Given the description of an element on the screen output the (x, y) to click on. 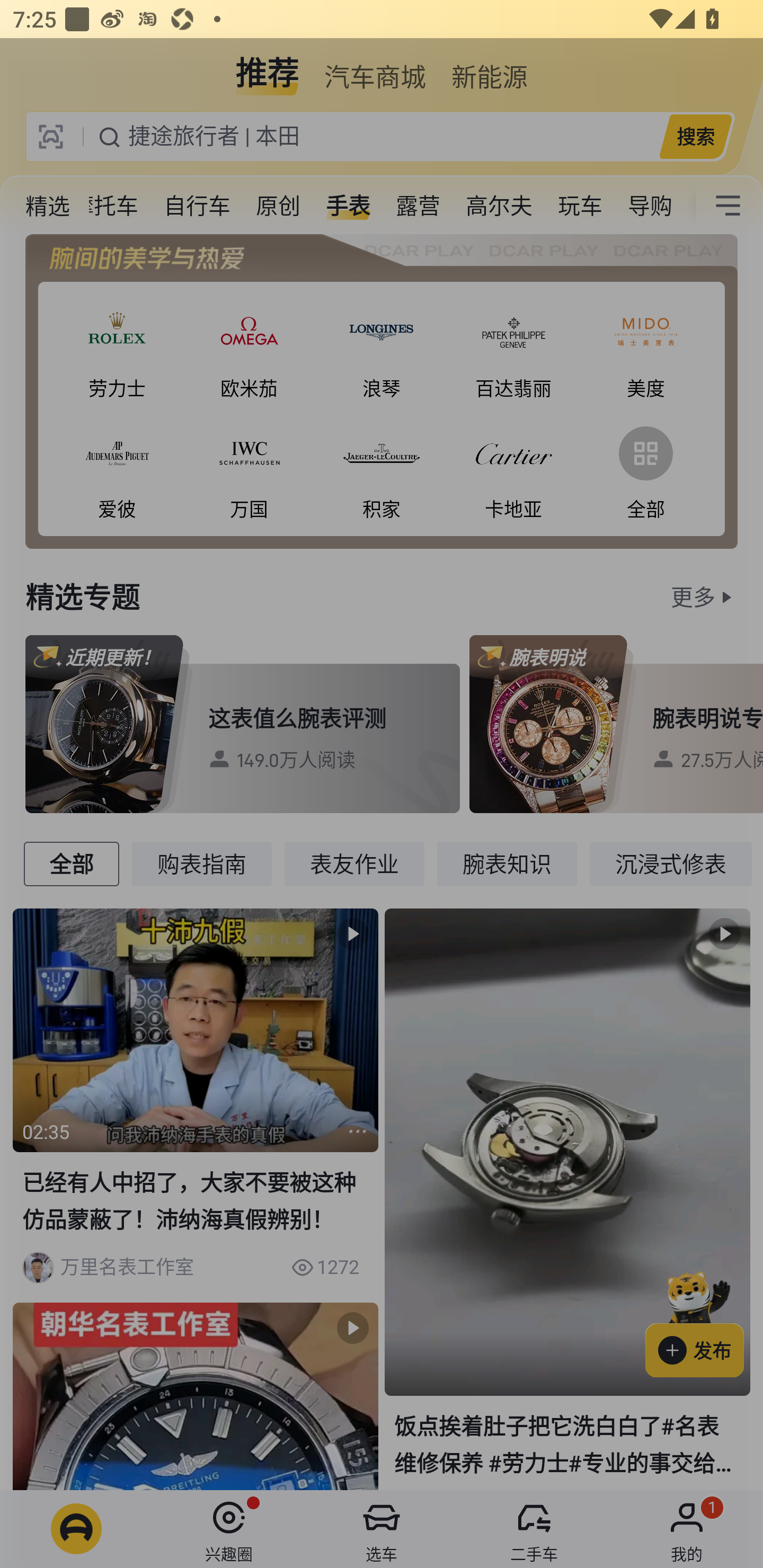
自行车 (197, 205)
原创 (277, 205)
手表 (347, 205)
露营 (418, 205)
高尔夫 (499, 205)
玩车 (579, 205)
导购 (649, 205)
 (727, 205)
精选 (47, 206)
劳力士 (117, 348)
欧米茄 (249, 348)
浪琴 (381, 348)
百达翡丽 (513, 348)
美度 (645, 348)
爱彼 (117, 469)
万国 (249, 469)
积家 (381, 469)
卡地亚 (513, 469)
全部 (645, 469)
更多  (703, 596)
近期更新！ 这表值么腕表评测  149.0万人阅读 (242, 724)
腕表明说 腕表明说专业评测  27.5万人阅读 (616, 724)
全部 (71, 863)
购表指南 (201, 863)
表友作业 (354, 863)
腕表知识 (506, 863)
沉浸式修表 (670, 863)
